Given the description of an element on the screen output the (x, y) to click on. 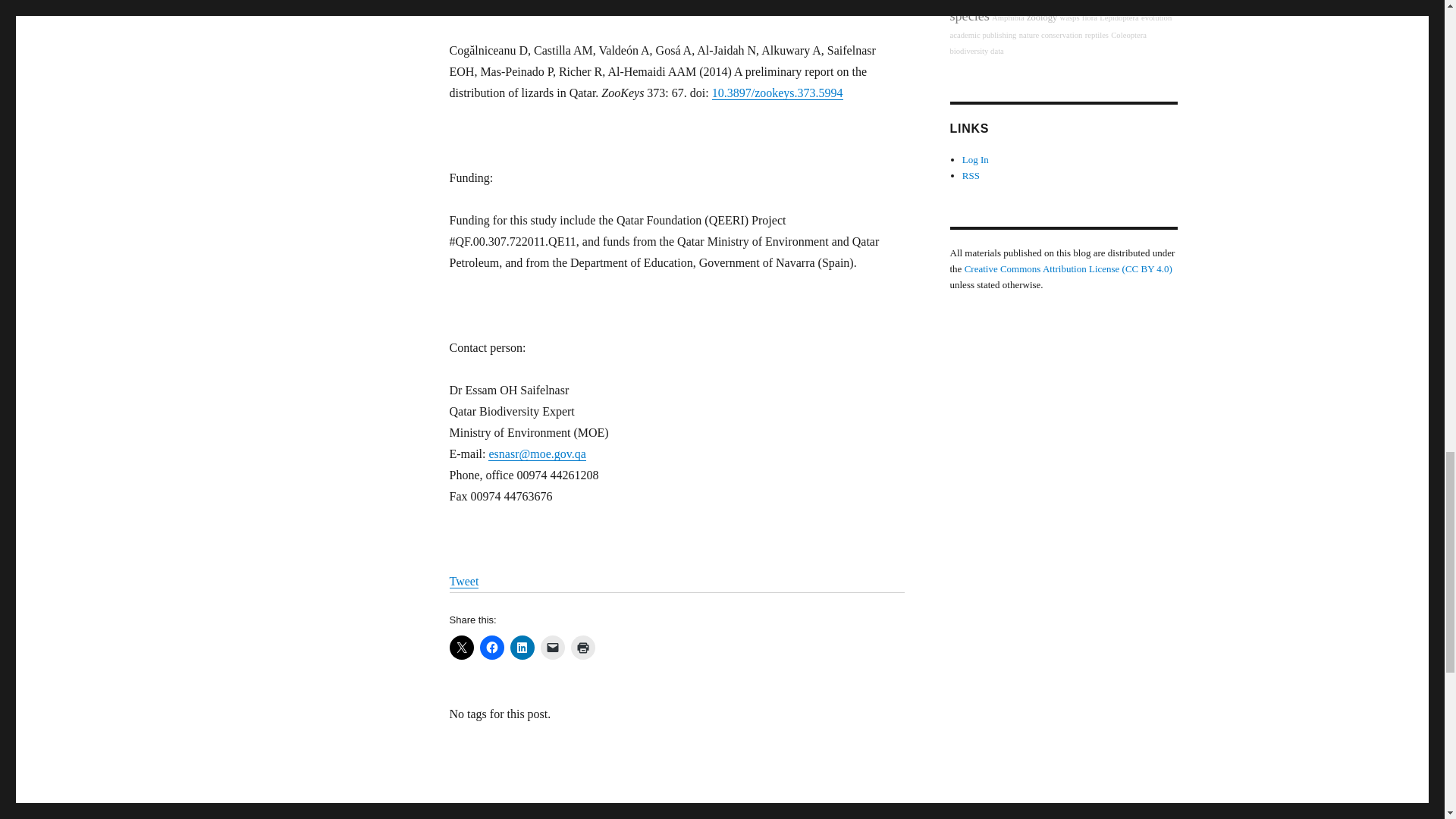
Click to email a link to a friend (552, 647)
Click to print (582, 647)
Click to share on LinkedIn (521, 647)
Click to share on Facebook (491, 647)
Click to share on X (460, 647)
Tweet (463, 581)
